Given the description of an element on the screen output the (x, y) to click on. 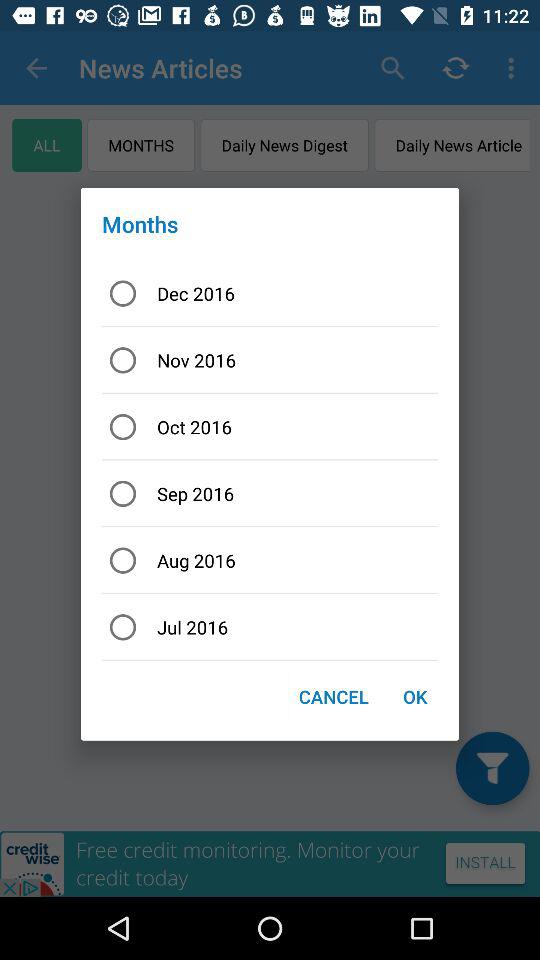
click ok (414, 696)
